Given the description of an element on the screen output the (x, y) to click on. 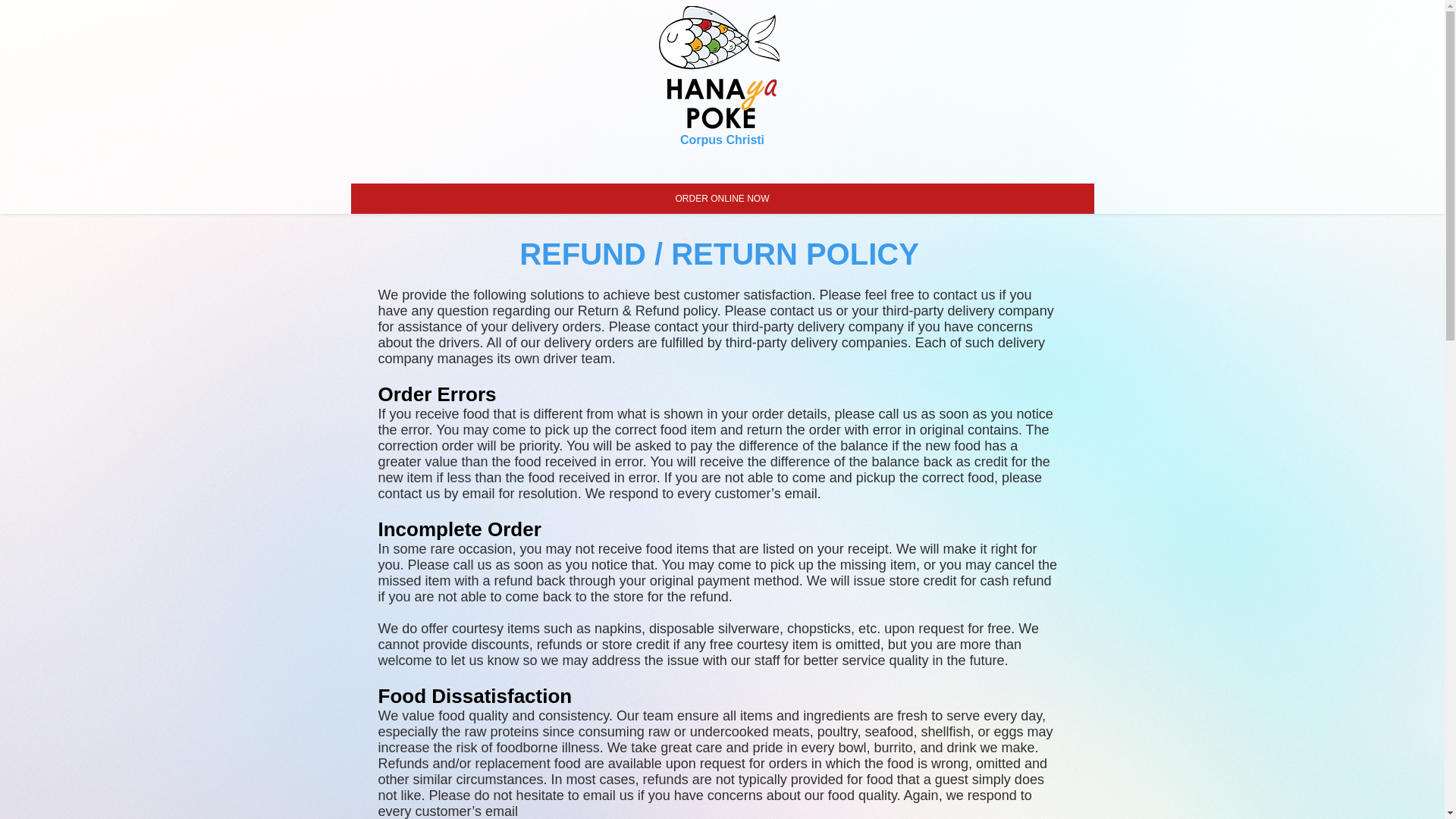
ORDER ONLINE NOW (721, 198)
